Given the description of an element on the screen output the (x, y) to click on. 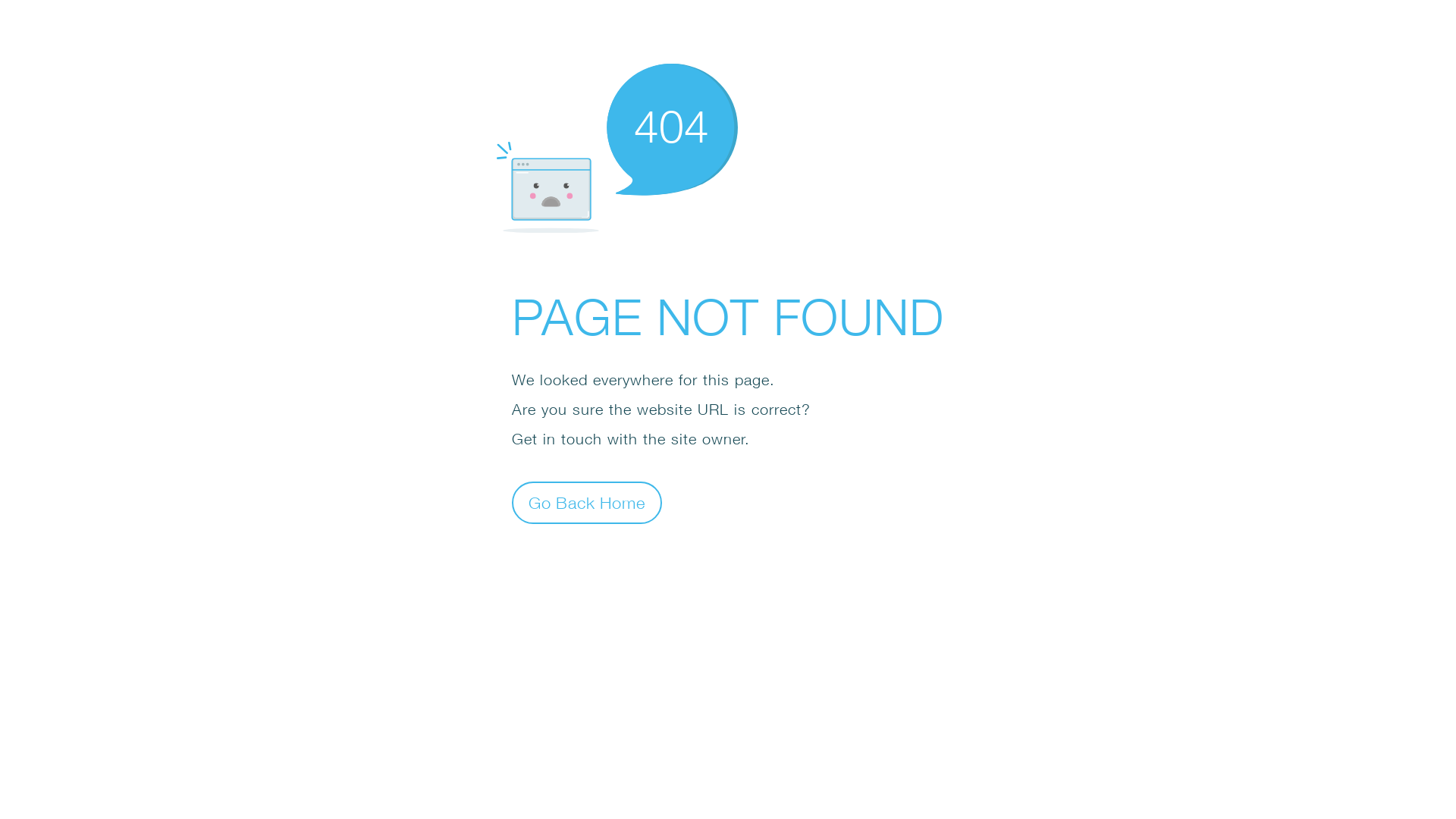
Go Back Home Element type: text (586, 502)
